Given the description of an element on the screen output the (x, y) to click on. 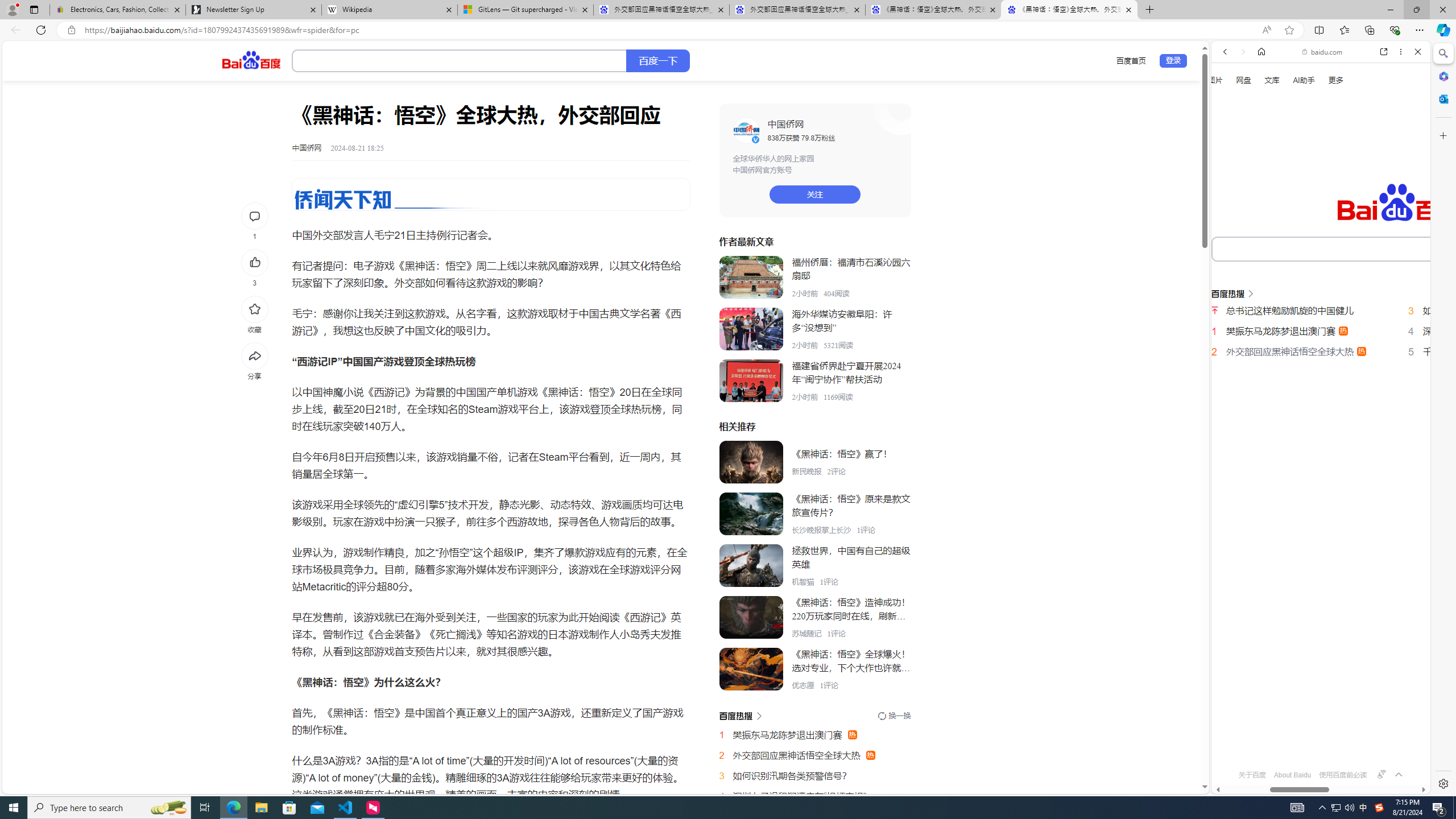
baidu.com (1323, 51)
